Given the description of an element on the screen output the (x, y) to click on. 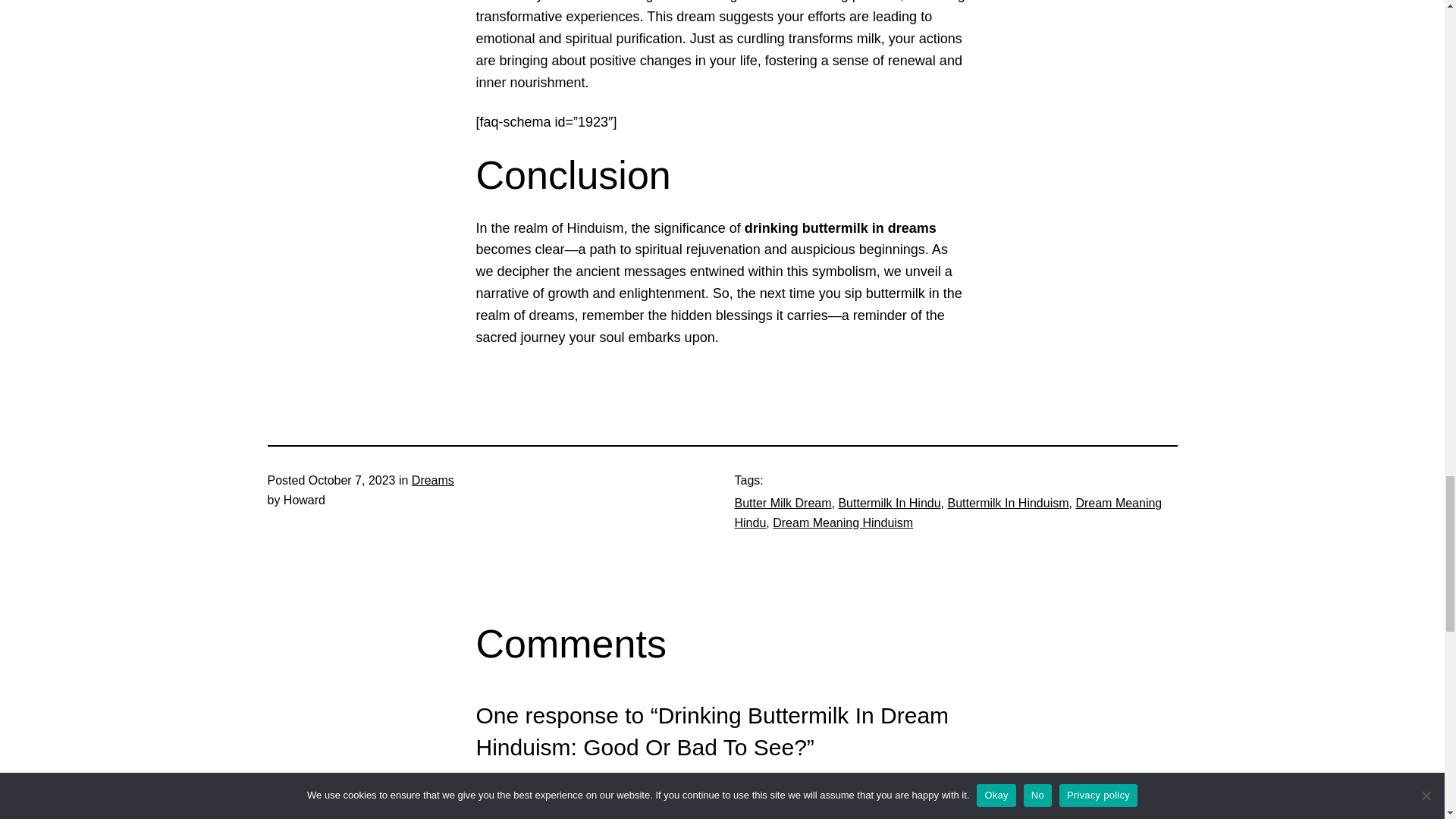
Buttermilk In Hinduism (1007, 502)
Seeing Eagle In Dream Hindu: Good Or Bad Luck? (678, 810)
Dreams (433, 480)
Dream Meaning Hindu (947, 512)
Dream Meaning Hinduism (842, 522)
Buttermilk In Hindu (889, 502)
Butter Milk Dream (782, 502)
